Given the description of an element on the screen output the (x, y) to click on. 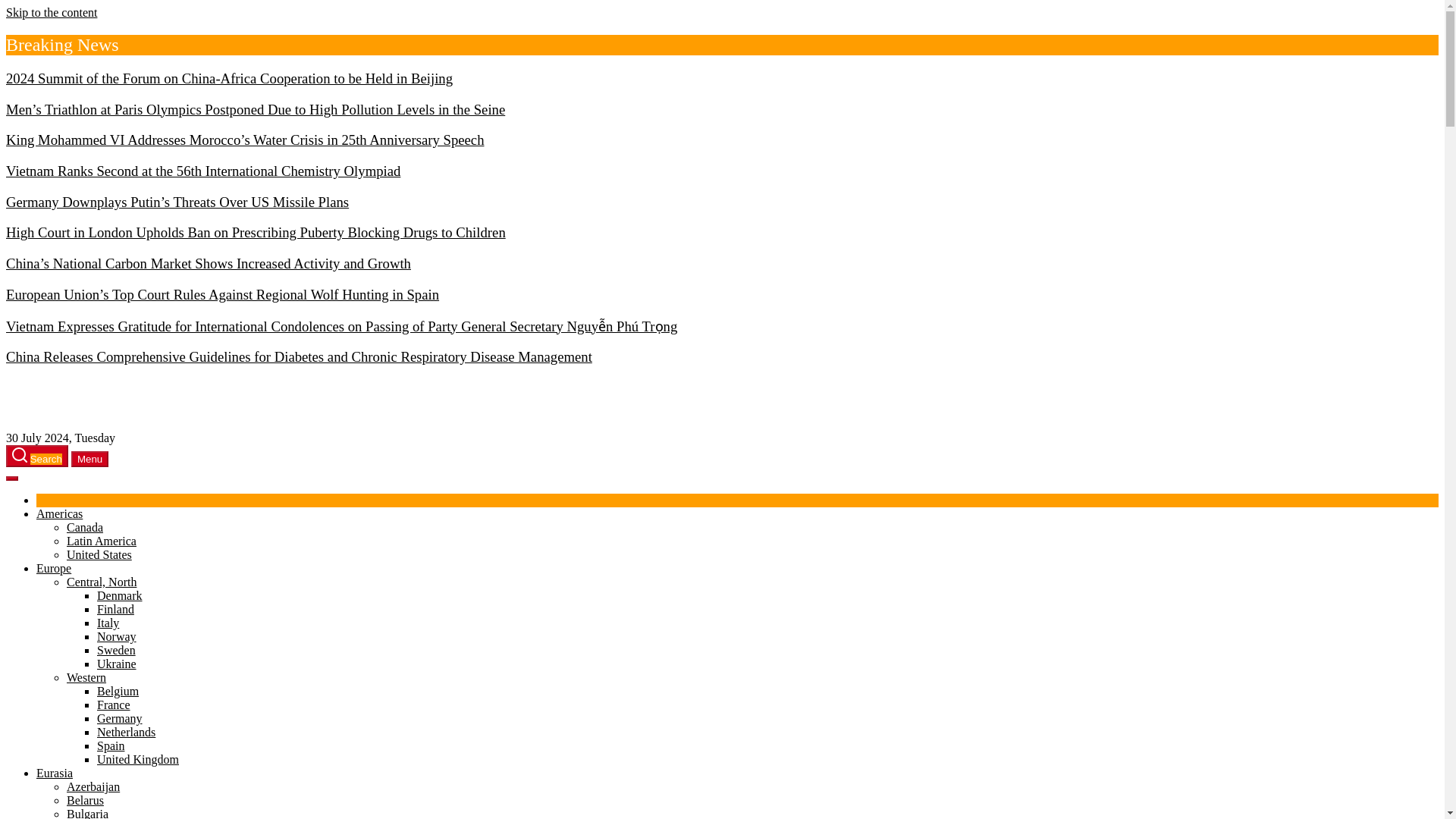
Search (36, 455)
Sweden (116, 649)
Western (86, 676)
Norway (116, 635)
Latin America (101, 540)
Italy (108, 622)
Skip to the content (51, 11)
Finland (115, 608)
United States (99, 554)
Central, North (101, 581)
The Europe Today (50, 386)
Canada (84, 526)
